Given the description of an element on the screen output the (x, y) to click on. 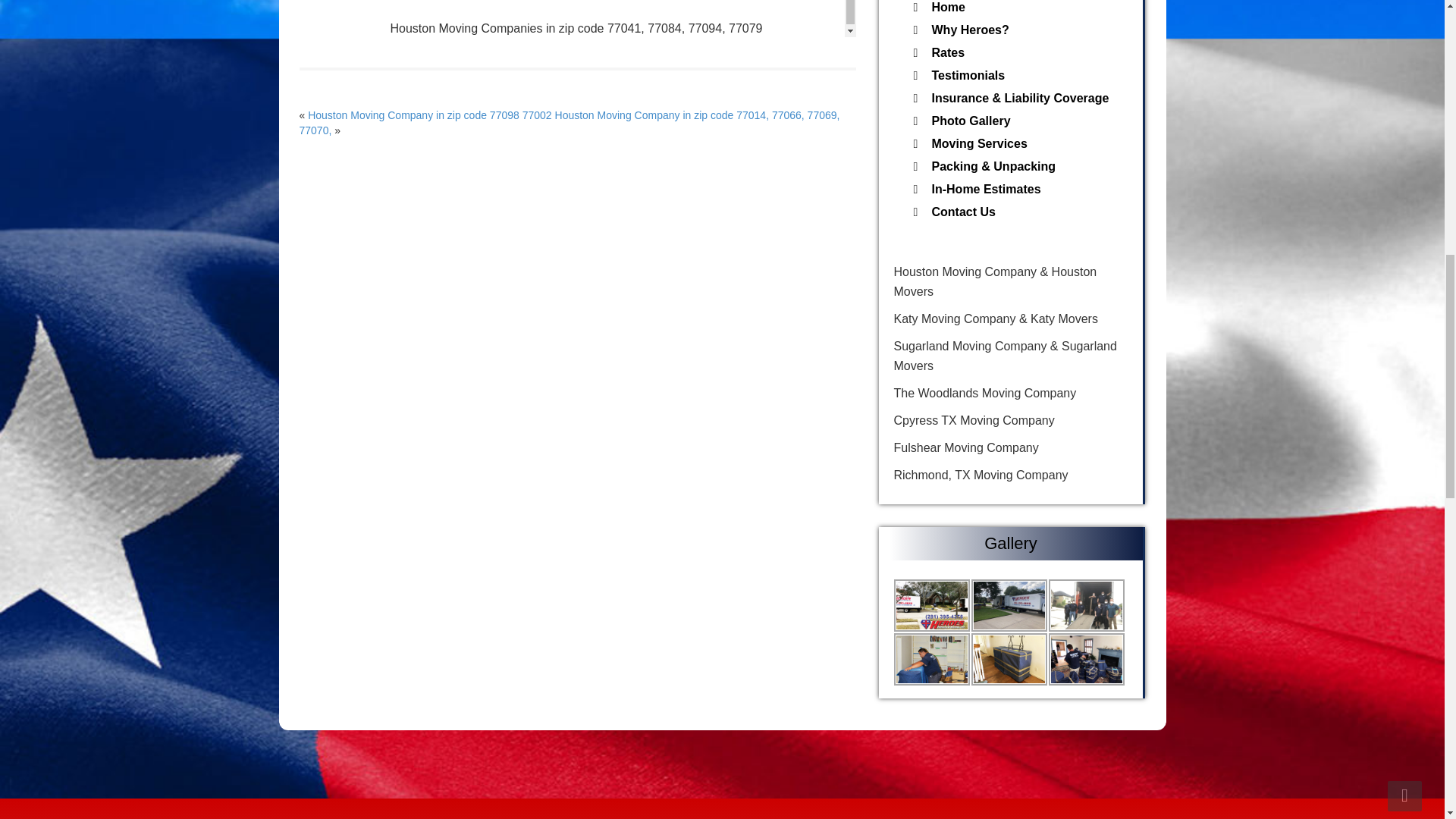
Photo Gallery (1024, 120)
Why Heroes? (1024, 29)
In-Home Estimates (1024, 189)
Moving Services (1024, 143)
Rates (1024, 52)
Contact Us (1024, 212)
Houston Moving Company in zip code 77098 77002 (429, 114)
Testimonials (1024, 75)
Home (1024, 7)
